Given the description of an element on the screen output the (x, y) to click on. 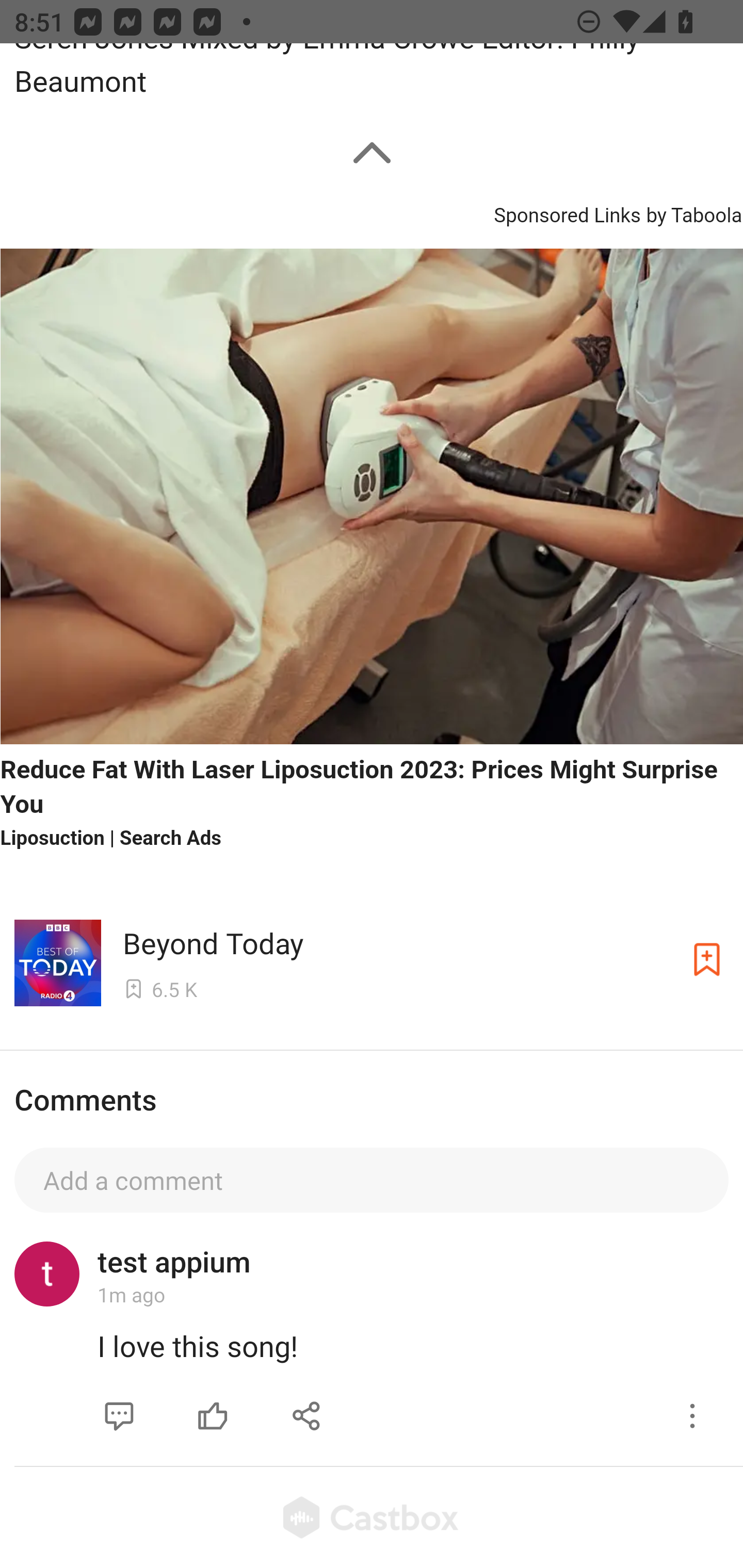
Sponsored Links (566, 212)
by Taboola (693, 212)
Image for Taboola Advertising Unit (371, 495)
Beyond Today  6.5 K Unsubscribe (371, 959)
Unsubscribe (706, 959)
Add a comment (371, 1179)
test appium 1m ago I love this song!     (371, 1339)
 (119, 1415)
 (212, 1415)
 (307, 1415)
 (692, 1415)
